Given the description of an element on the screen output the (x, y) to click on. 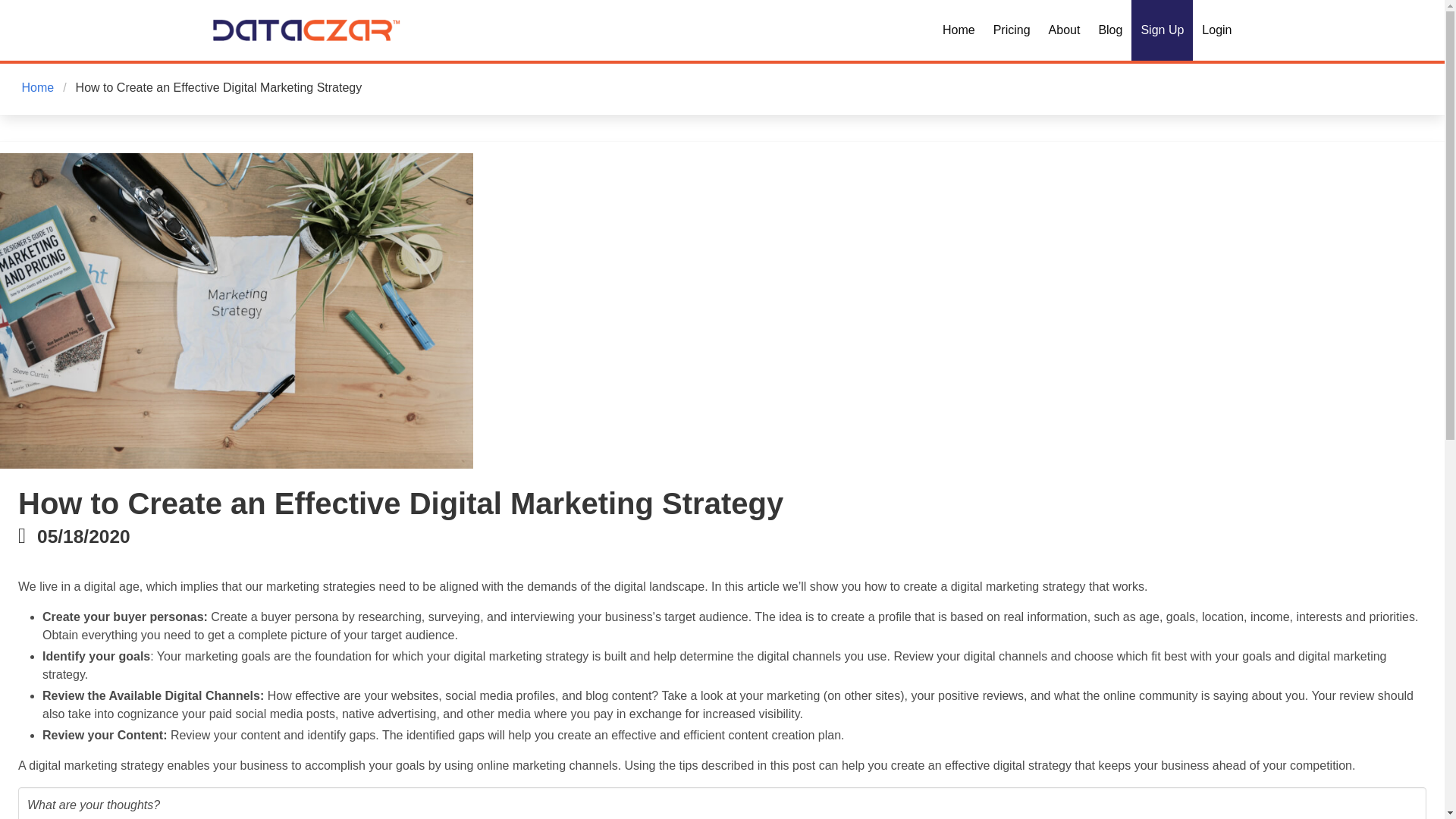
Sign Up (1161, 30)
 Home (39, 87)
How to Create an Effective Digital Marketing Strategy (218, 87)
Pricing (1011, 30)
